Given the description of an element on the screen output the (x, y) to click on. 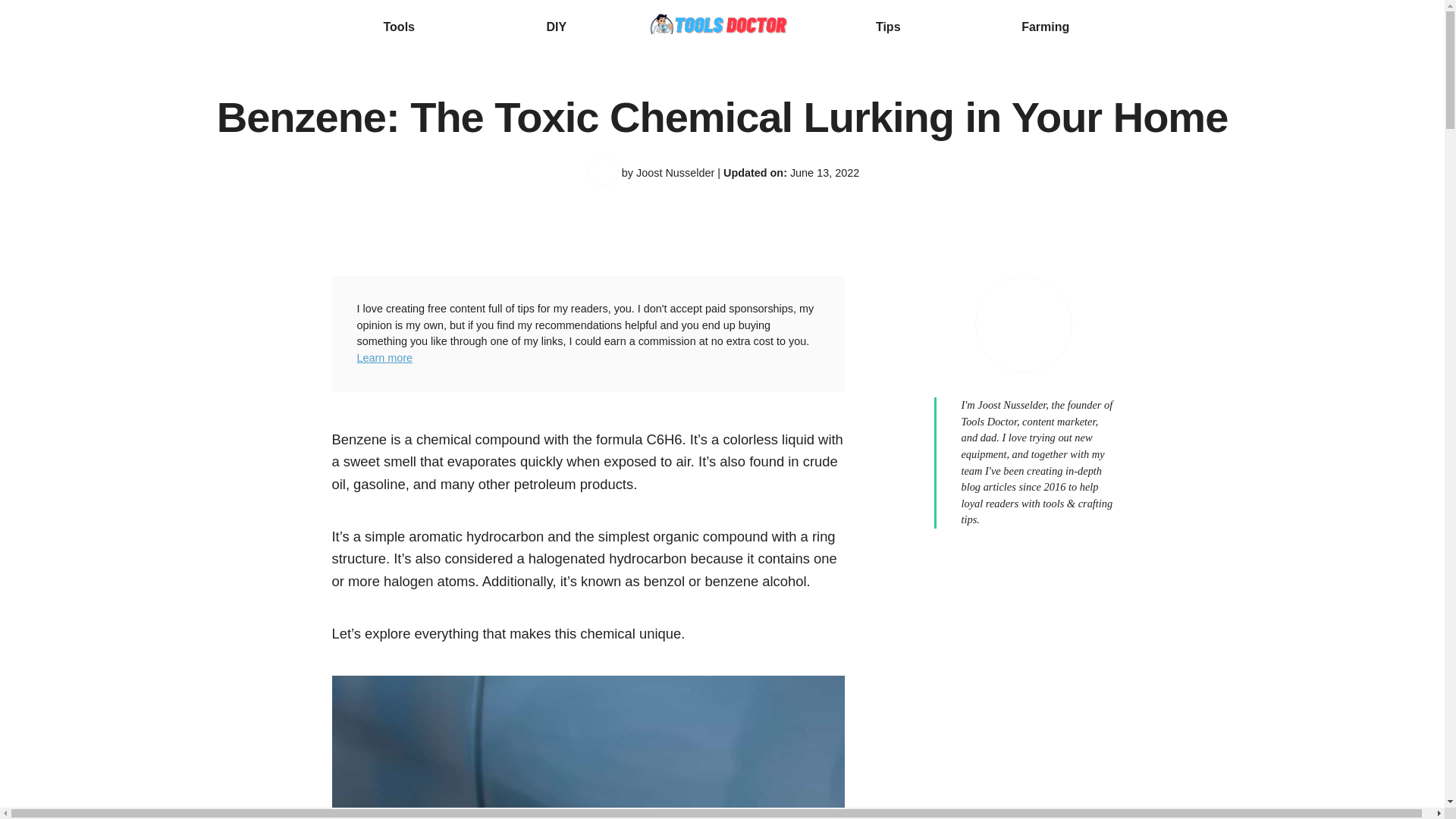
DIY (556, 26)
Tips (888, 26)
Farming (1045, 26)
Logo (721, 27)
Learn more (384, 357)
Tools (399, 26)
